Given the description of an element on the screen output the (x, y) to click on. 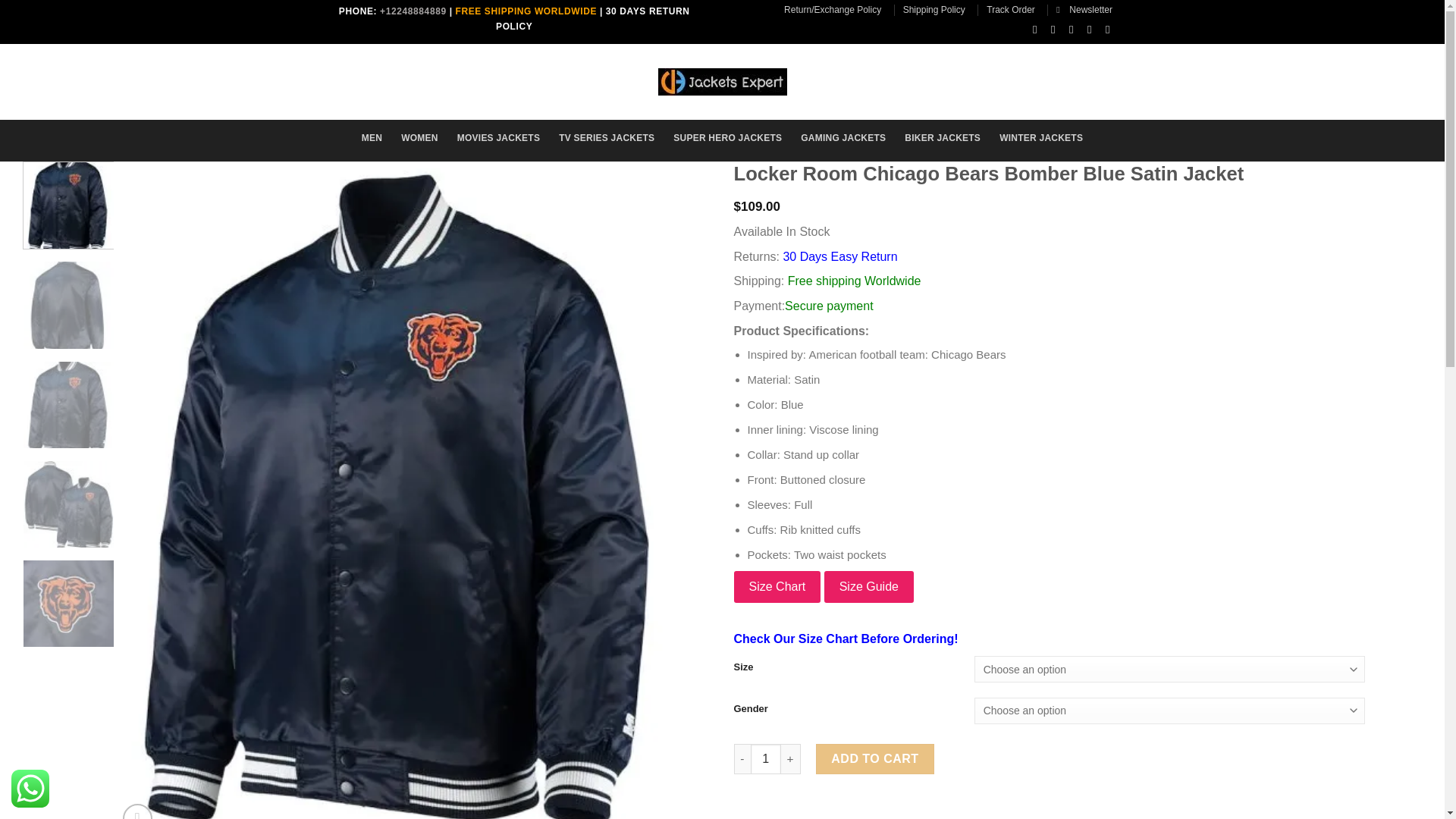
Shipping Policy (933, 9)
TV SERIES JACKETS (606, 137)
WOMEN (419, 137)
Track Order (1011, 9)
BIKER JACKETS (941, 137)
Search (411, 76)
1 (765, 758)
SUPER HERO JACKETS (726, 137)
Sign up for Newsletter (1084, 9)
MOVIES JACKETS (498, 137)
